Given the description of an element on the screen output the (x, y) to click on. 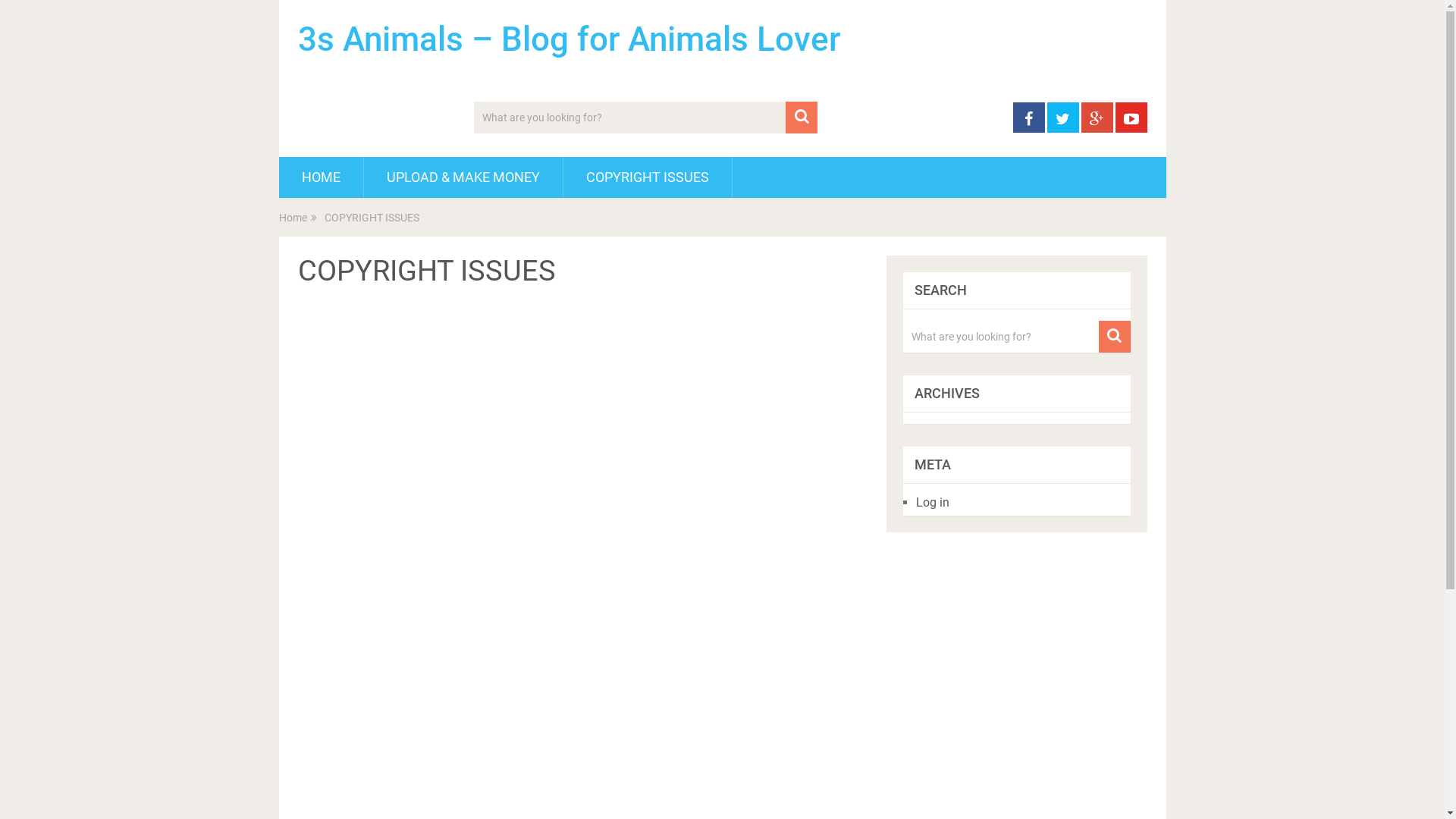
HOME Element type: text (321, 176)
Home Element type: text (293, 217)
Log in Element type: text (932, 502)
COPYRIGHT ISSUES Element type: text (646, 176)
UPLOAD & MAKE MONEY Element type: text (463, 176)
